Given the description of an element on the screen output the (x, y) to click on. 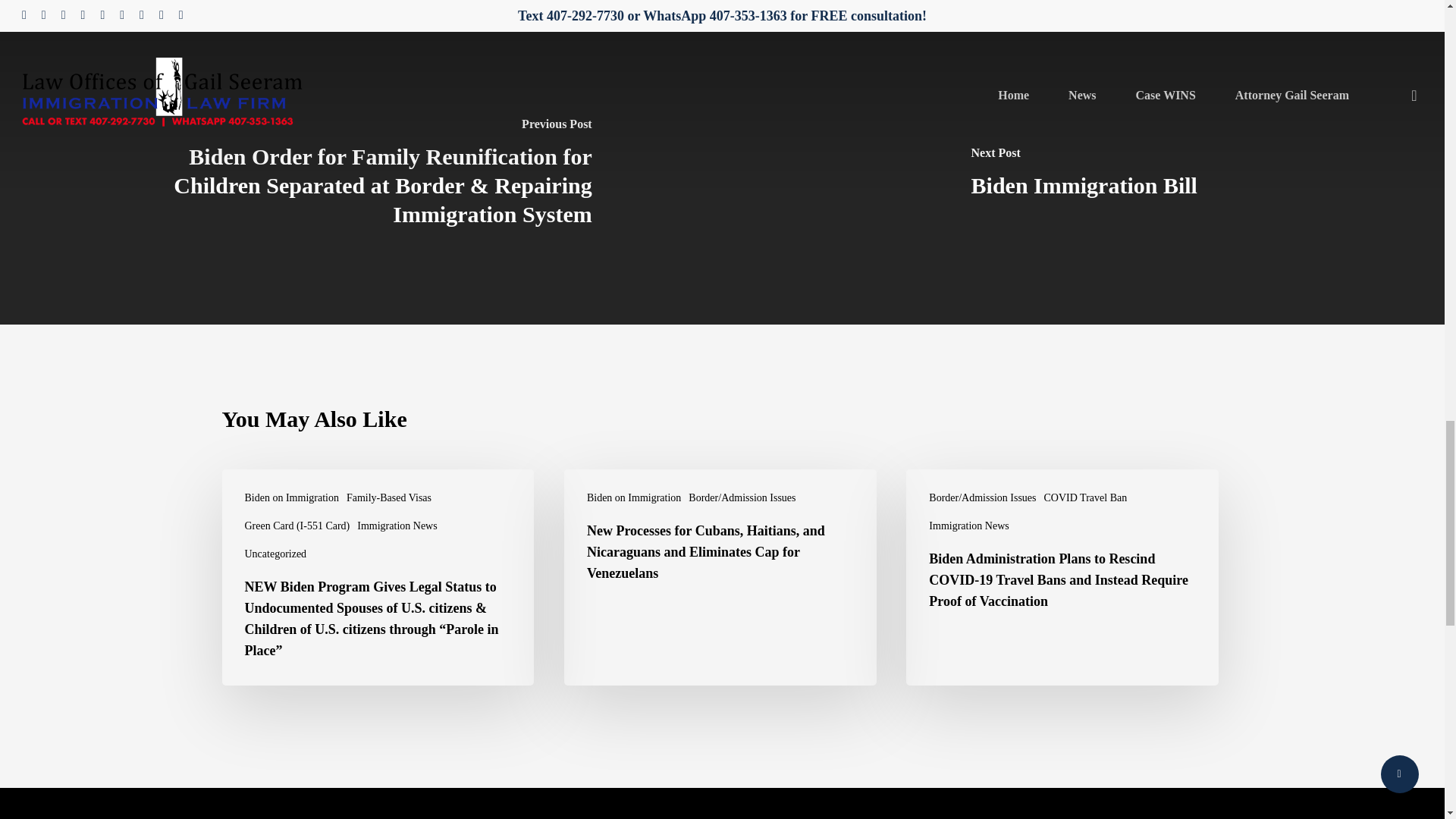
Uncategorized (274, 554)
Biden on Immigration (633, 497)
Family-Based Visas (388, 497)
Immigration News (396, 525)
Biden on Immigration (290, 497)
